Given the description of an element on the screen output the (x, y) to click on. 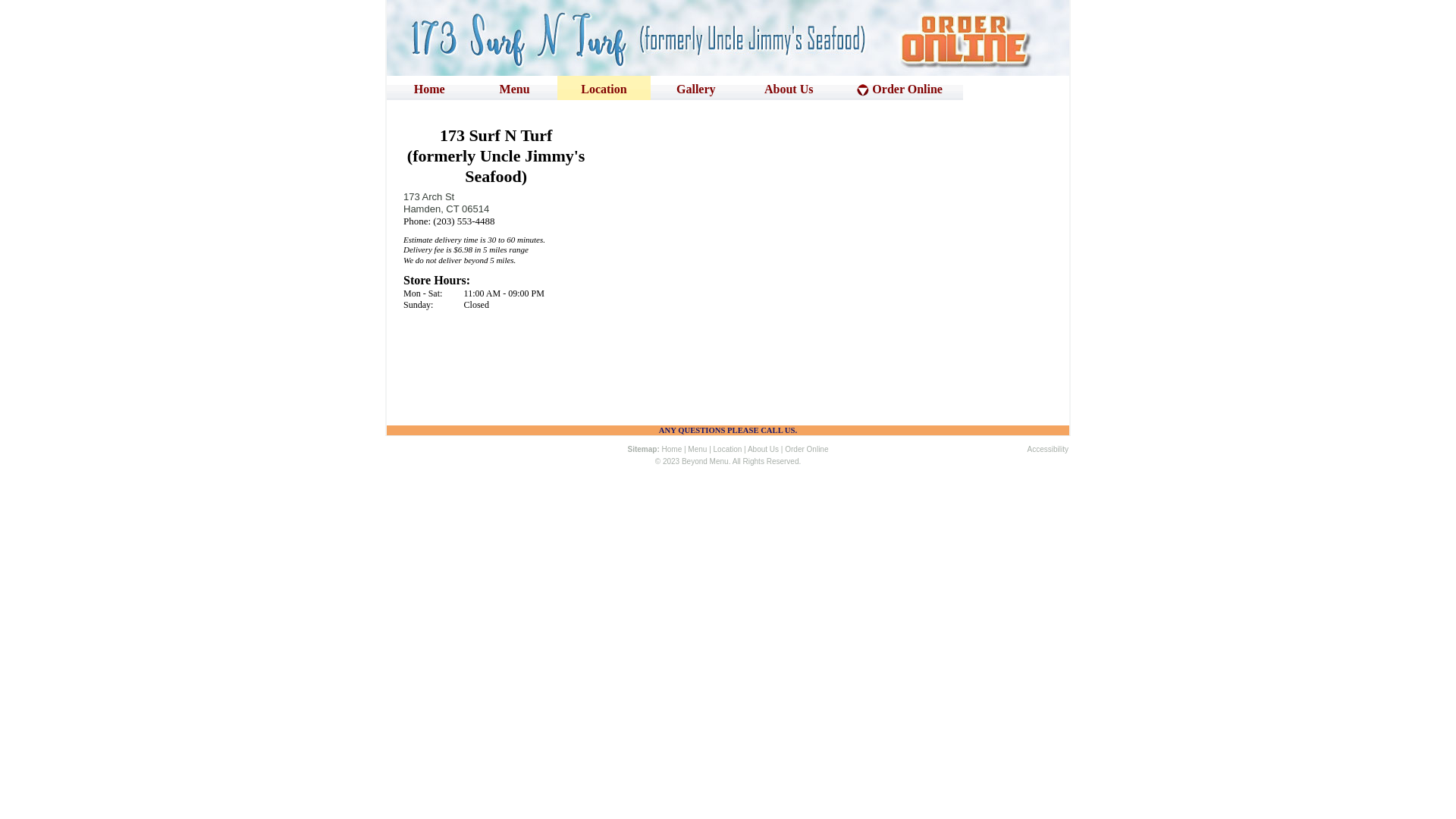
Beyond Menu Element type: text (704, 464)
Home Element type: text (672, 452)
Order Online Element type: text (806, 452)
Menu Element type: text (696, 452)
Location Element type: text (727, 452)
Location Element type: text (604, 87)
Gallery Element type: text (695, 87)
About Us Element type: text (788, 87)
 Order Online Element type: text (899, 87)
Menu Element type: text (514, 87)
About Us Element type: text (762, 452)
Accessibility Element type: text (1047, 452)
Home Element type: text (429, 87)
